Given the description of an element on the screen output the (x, y) to click on. 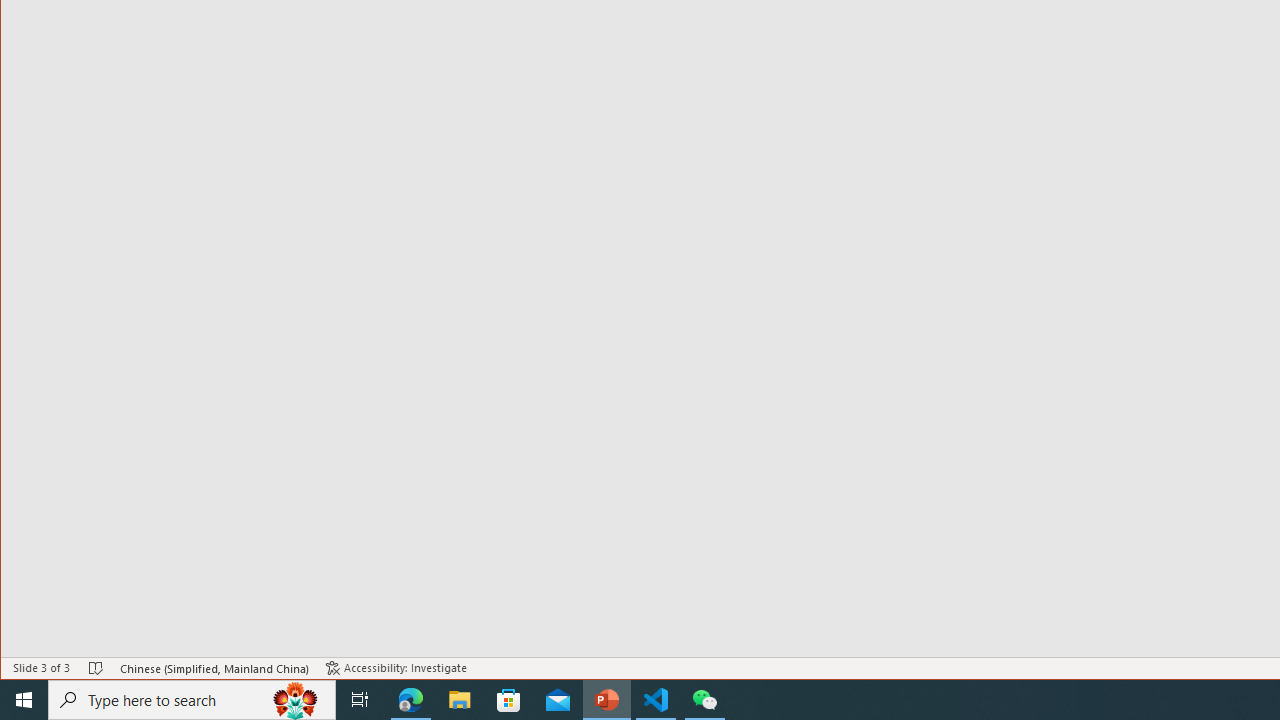
Start (24, 699)
File Explorer (460, 699)
Visual Studio Code - 1 running window (656, 699)
PowerPoint - 1 running window (607, 699)
WeChat - 1 running window (704, 699)
Task View (359, 699)
Microsoft Store (509, 699)
Type here to search (191, 699)
Microsoft Edge - 1 running window (411, 699)
Search highlights icon opens search home window (295, 699)
